Given the description of an element on the screen output the (x, y) to click on. 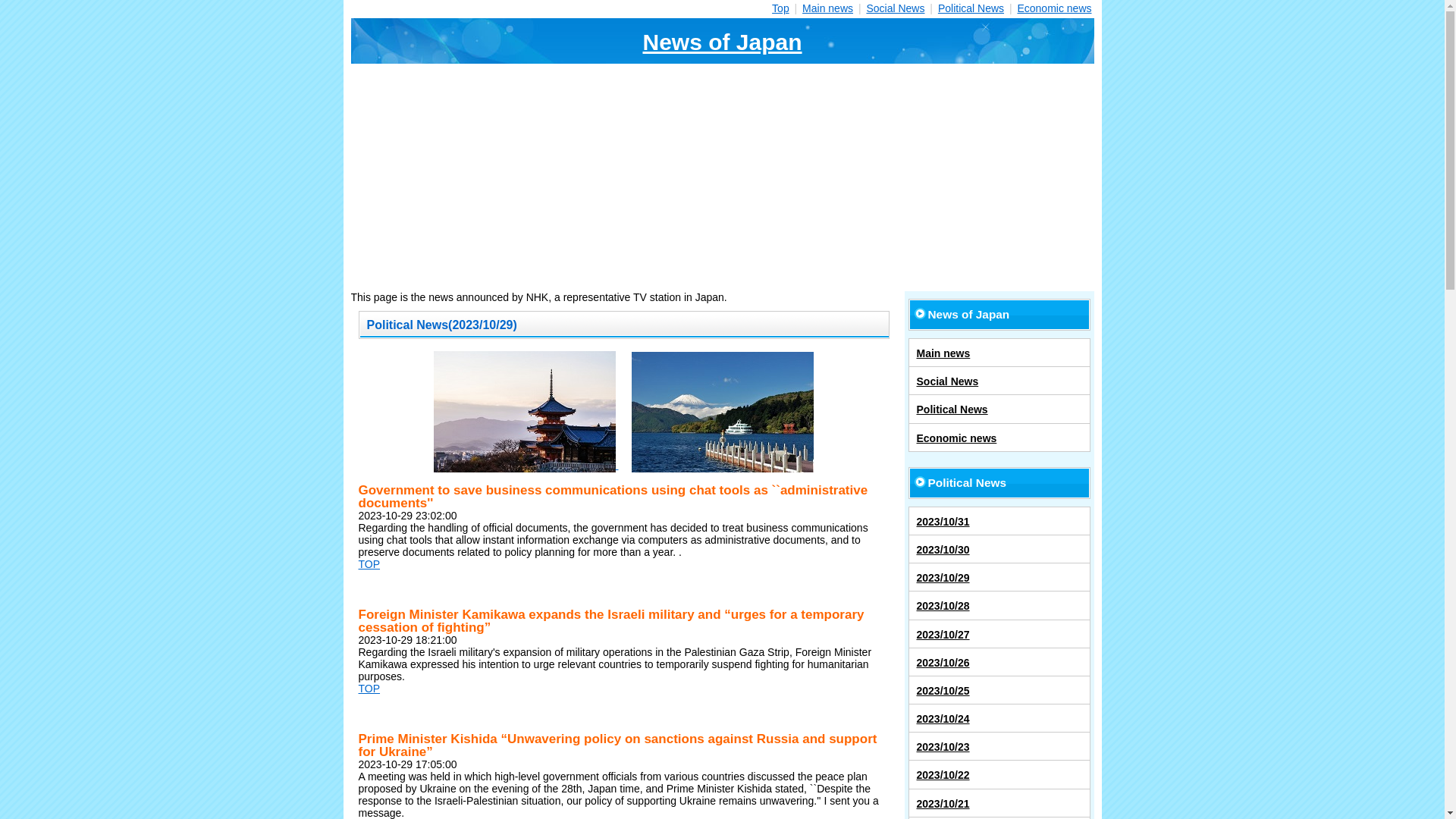
Economic news (998, 437)
Main news (998, 352)
Social News (895, 8)
Main news (827, 8)
News of Japan (999, 314)
Top (780, 8)
TOP (369, 563)
News of Japan (721, 40)
Economic news (1053, 8)
TOP (369, 688)
Political News (999, 482)
Social News (998, 379)
Political News (998, 408)
Political News (970, 8)
